Given the description of an element on the screen output the (x, y) to click on. 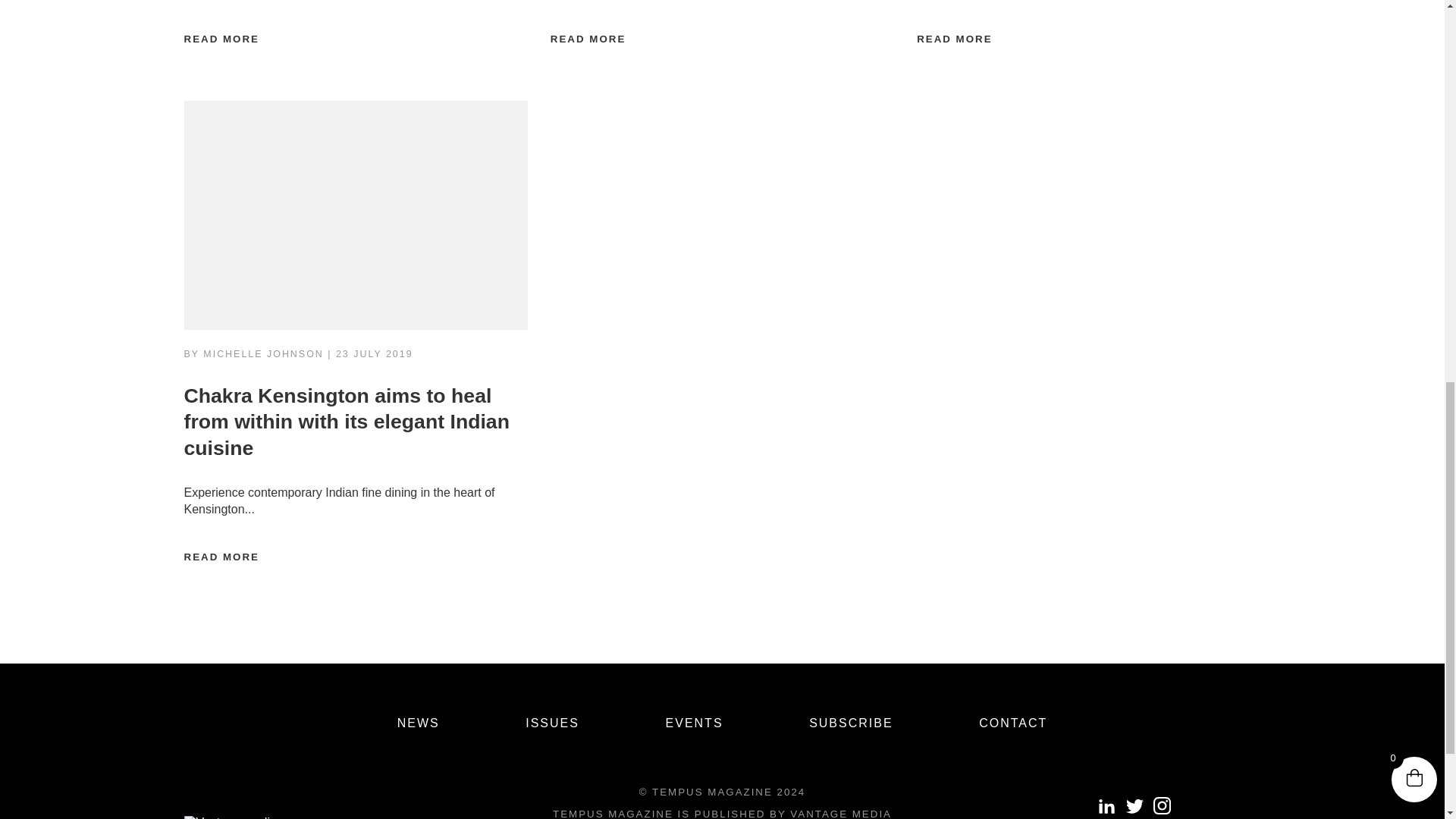
ISSUES (552, 722)
SUBSCRIBE (850, 722)
NEWS (418, 722)
VANTAGE MEDIA (840, 813)
CONTACT (1012, 722)
EVENTS (694, 722)
